Given the description of an element on the screen output the (x, y) to click on. 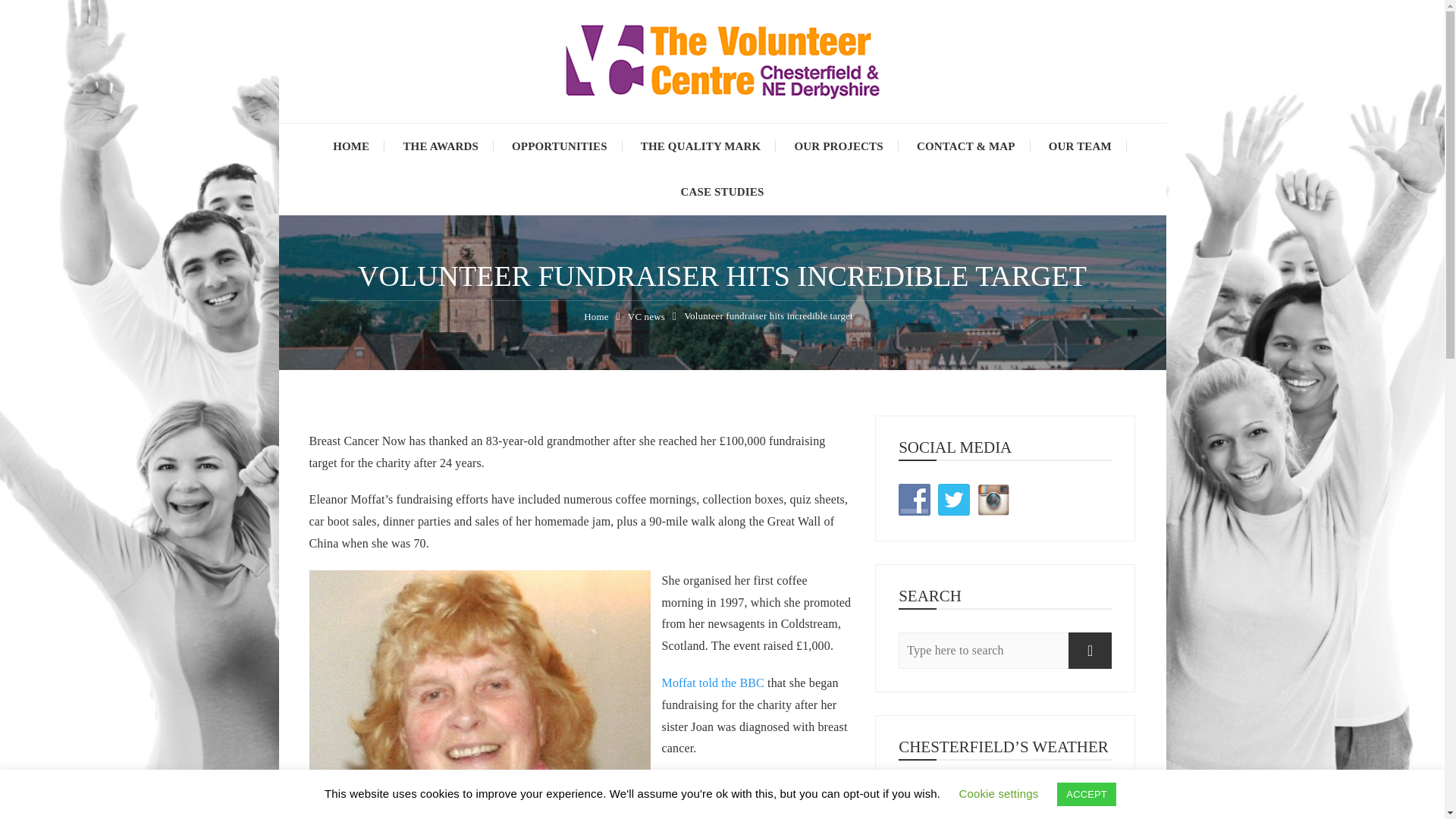
Follow Us on Facebook (914, 499)
HOME (350, 145)
OPPORTUNITIES (559, 145)
ACCEPT (1086, 793)
Follow Us on Instagram (992, 499)
Moffat told the BBC (711, 682)
Home (595, 316)
THE AWARDS (440, 145)
Ventus Weather Map Widget 53.227 -1.430 (1005, 800)
CASE STUDIES (721, 191)
Follow Us on Twitter (953, 499)
OUR TEAM (1079, 145)
Cookie settings (998, 793)
VC news (646, 316)
THE QUALITY MARK (701, 145)
